Given the description of an element on the screen output the (x, y) to click on. 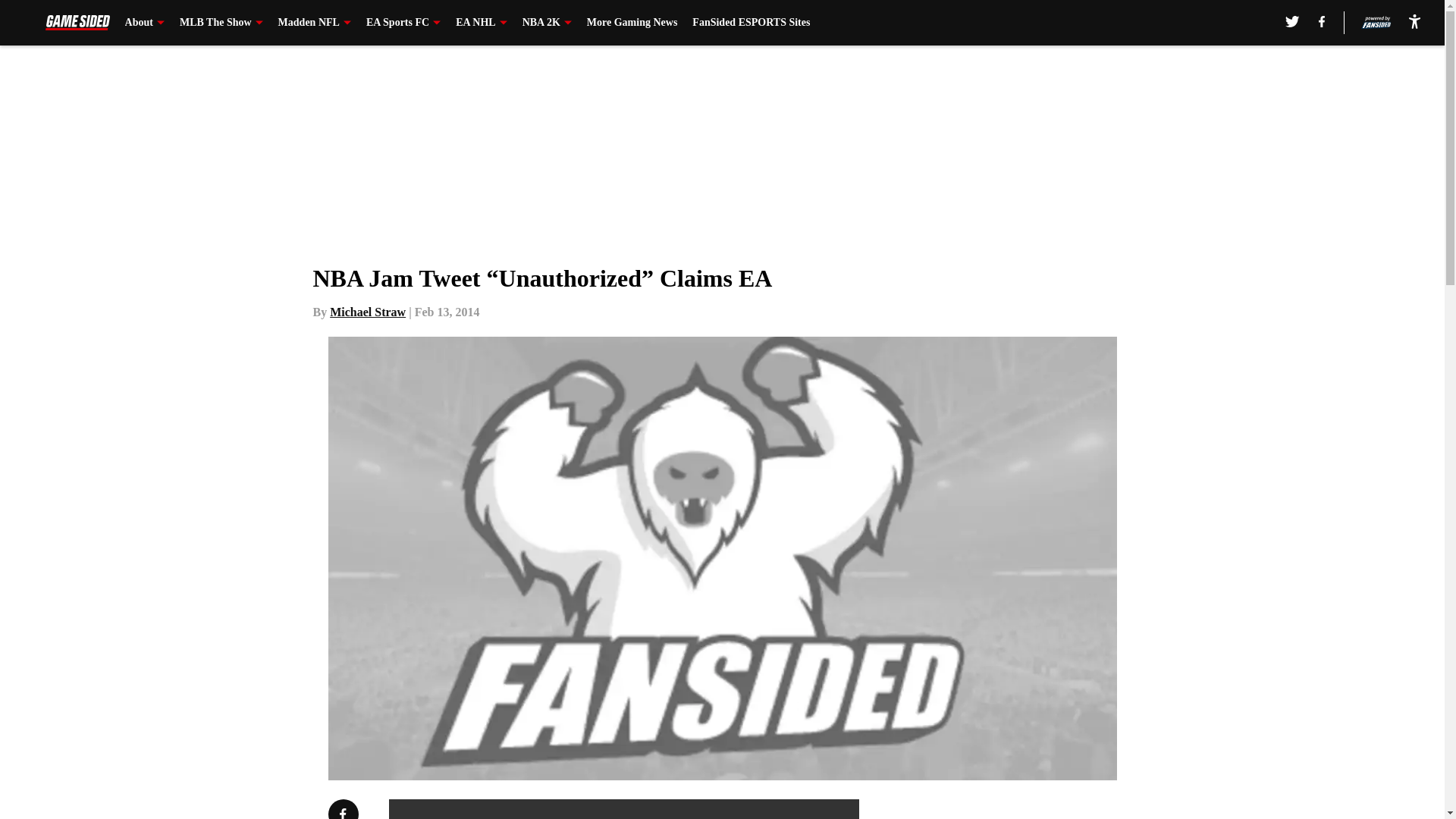
3rd party ad content (1047, 809)
FanSided ESPORTS Sites (751, 22)
More Gaming News (632, 22)
Michael Straw (368, 311)
